Given the description of an element on the screen output the (x, y) to click on. 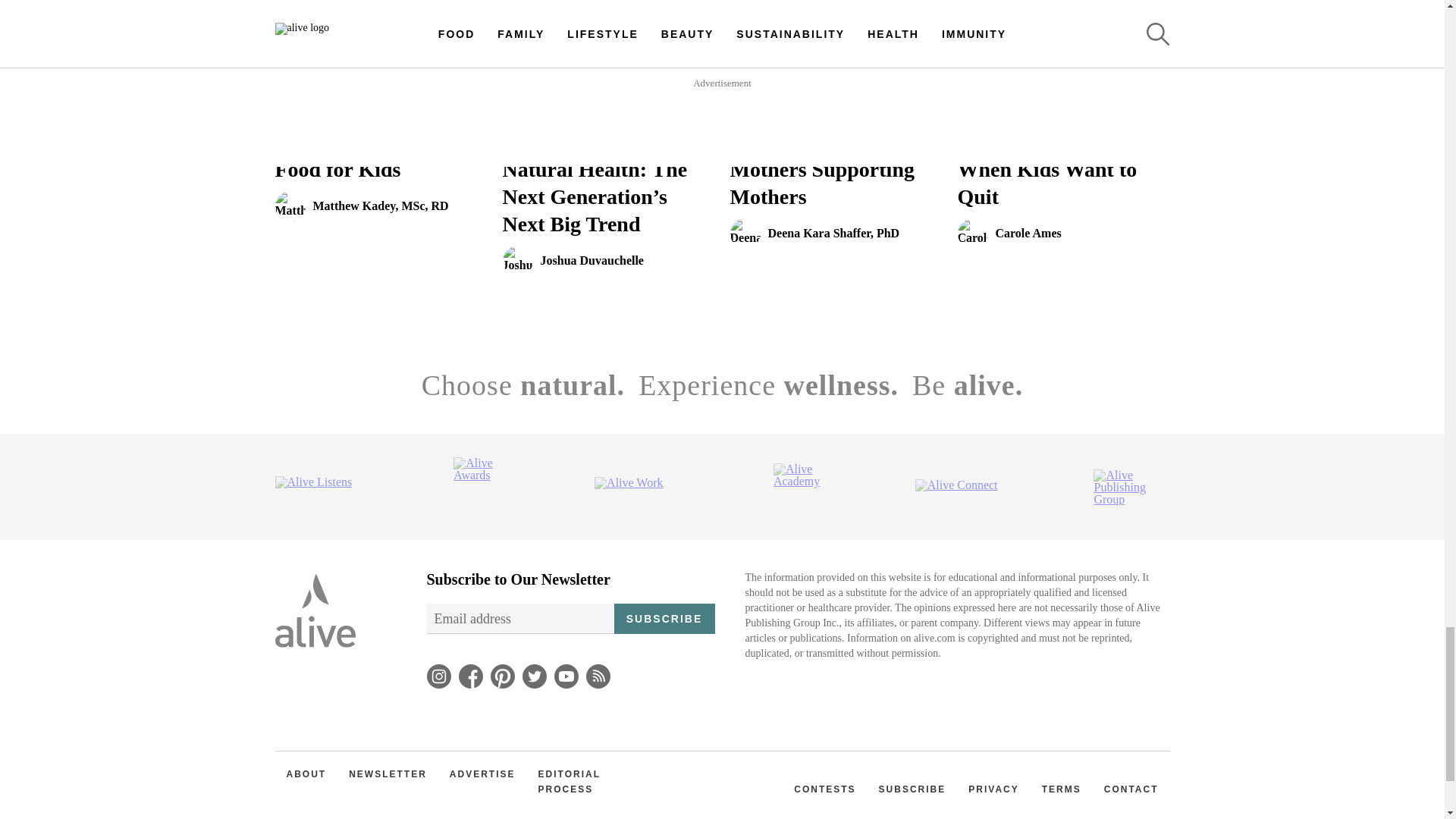
HEALTH (304, 140)
SUBSCRIBE (380, 199)
LIFESTYLE (664, 618)
FAMILY (541, 140)
FAMILY (757, 140)
